Given the description of an element on the screen output the (x, y) to click on. 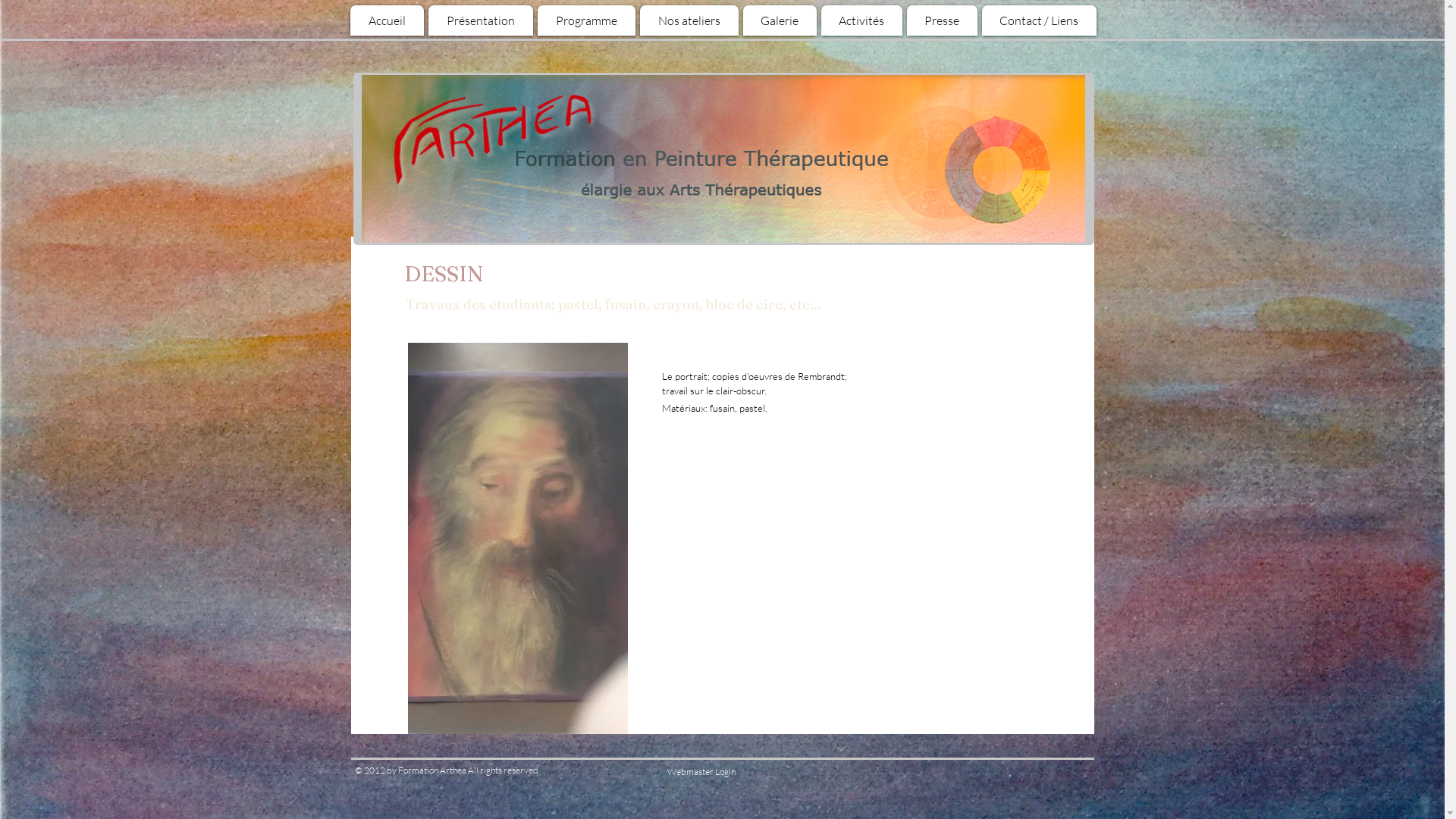
Nos ateliers Element type: text (689, 20)
Webmaster Login Element type: text (700, 771)
Presse Element type: text (941, 20)
Accueil Element type: text (386, 20)
Contact / Liens Element type: text (1038, 20)
Galerie Element type: text (779, 20)
Programme Element type: text (585, 20)
